Given the description of an element on the screen output the (x, y) to click on. 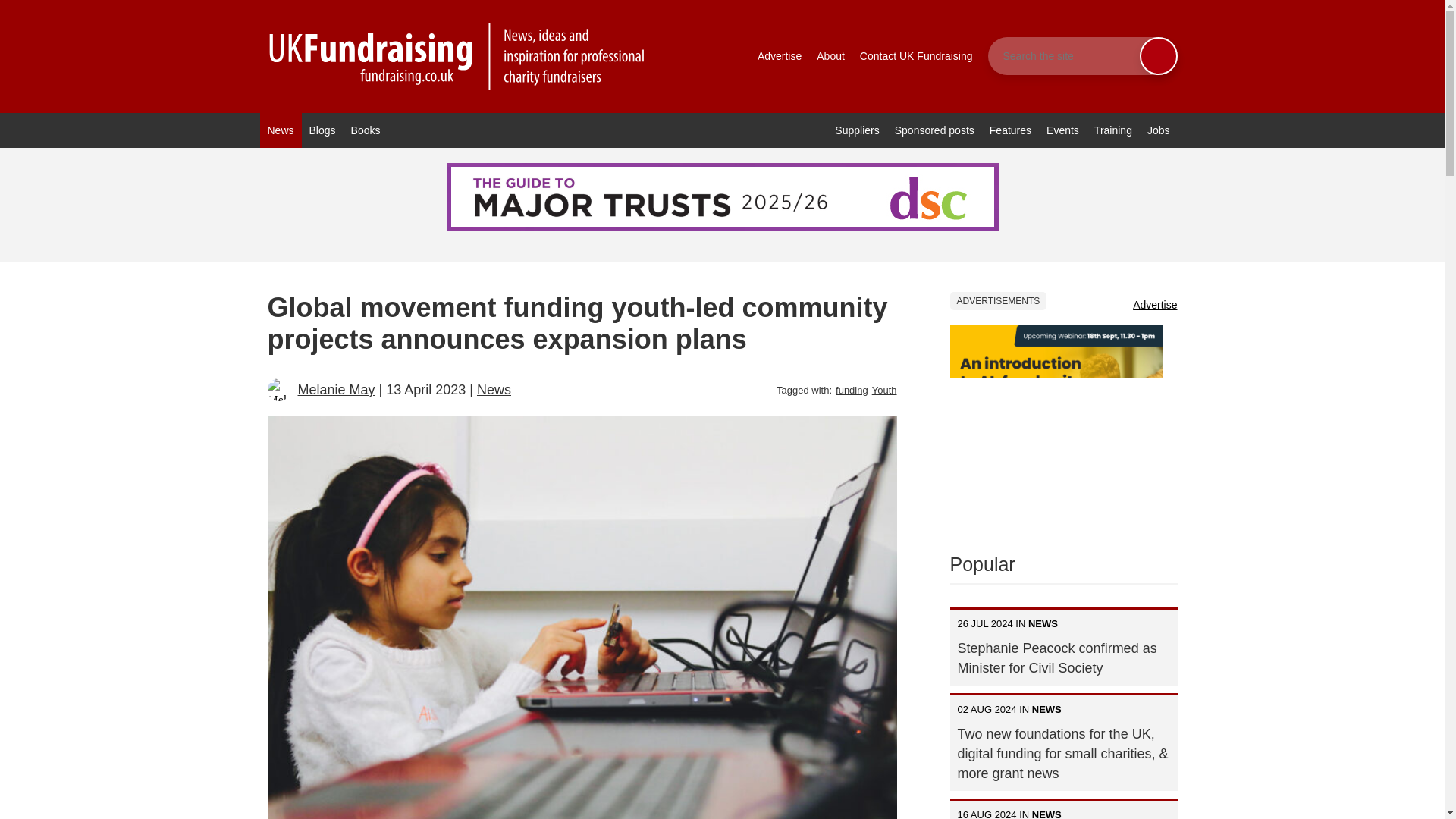
Advertise (779, 55)
Goto UK Fundraising homepage (456, 56)
View posts in News (494, 389)
Events (1062, 130)
News (280, 130)
Youth (884, 389)
funding (851, 389)
About (830, 55)
Blogs (322, 130)
Jobs (1158, 130)
